Given the description of an element on the screen output the (x, y) to click on. 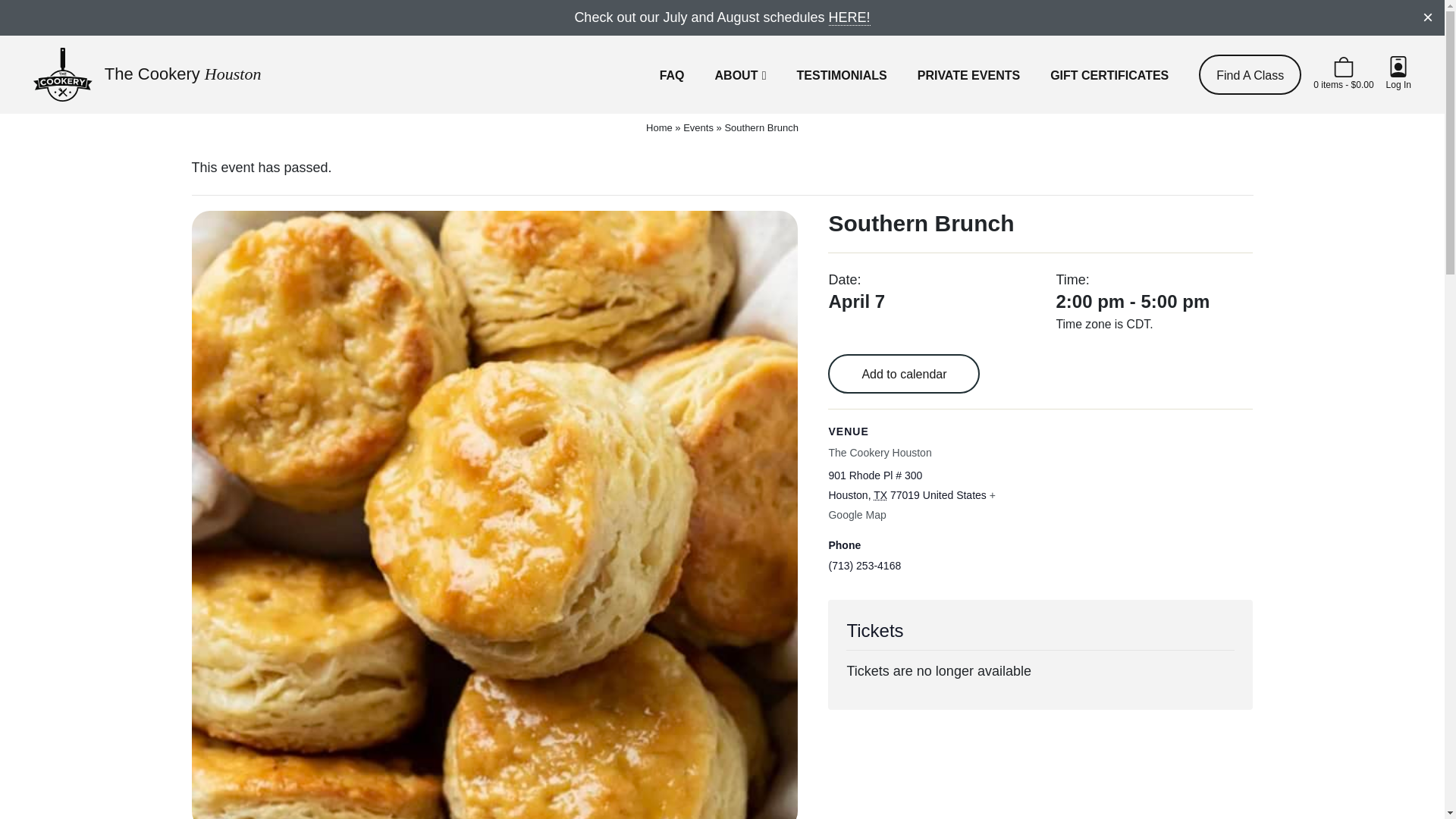
GIFT CERTIFICATES (1109, 74)
Texas (879, 494)
PRIVATE EVENTS (968, 74)
Find A Class (1249, 74)
Log In (1398, 74)
TESTIMONIALS (841, 74)
Log In to Your Account (1398, 74)
Events (697, 127)
ABOUT (740, 74)
The Cookery Houston (146, 74)
HERE! (849, 17)
Click to view a Google Map (911, 504)
Home (659, 127)
Add to calendar (903, 374)
FAQ (671, 74)
